Given the description of an element on the screen output the (x, y) to click on. 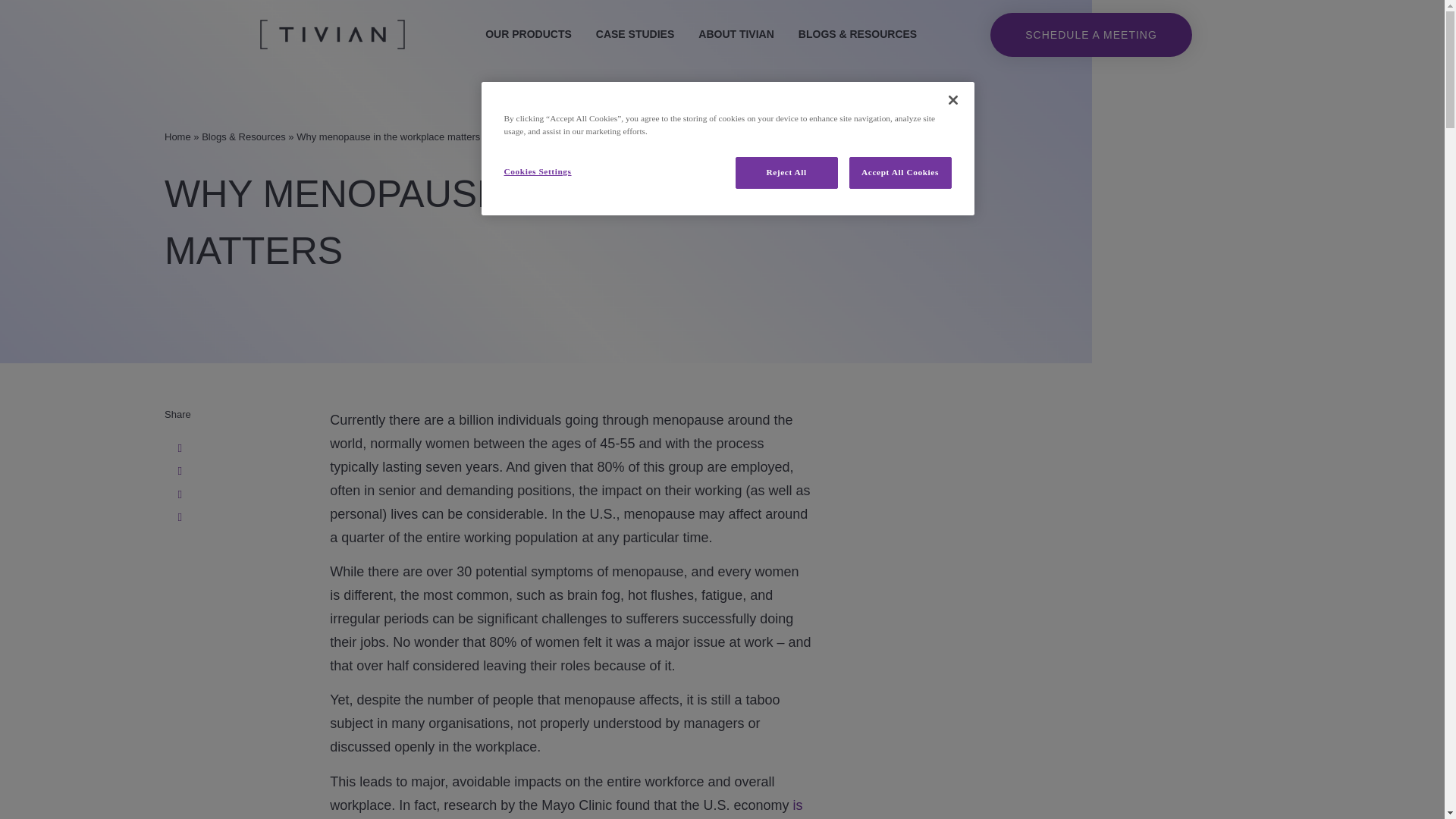
CASE STUDIES (634, 34)
ABOUT TIVIAN (736, 34)
OUR PRODUCTS (528, 34)
